Given the description of an element on the screen output the (x, y) to click on. 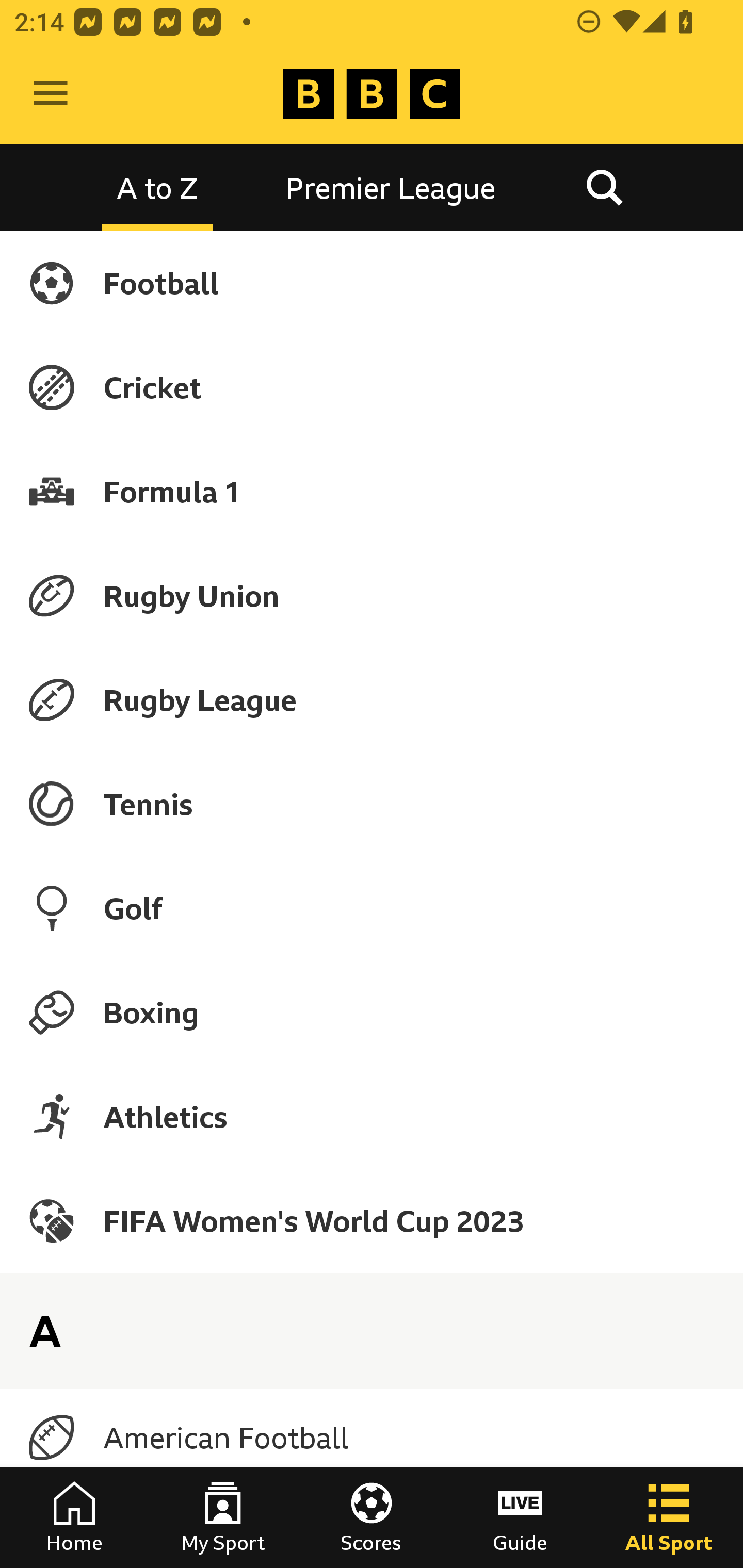
Open Menu (50, 93)
Premier League (390, 187)
Search (604, 187)
Football (371, 282)
Cricket (371, 387)
Formula 1 (371, 491)
Rugby Union (371, 595)
Rugby League (371, 699)
Tennis (371, 804)
Golf (371, 907)
Boxing (371, 1011)
Athletics (371, 1116)
FIFA Women's World Cup 2023 (371, 1220)
American Football (371, 1437)
Home (74, 1517)
My Sport (222, 1517)
Scores (371, 1517)
Guide (519, 1517)
